Given the description of an element on the screen output the (x, y) to click on. 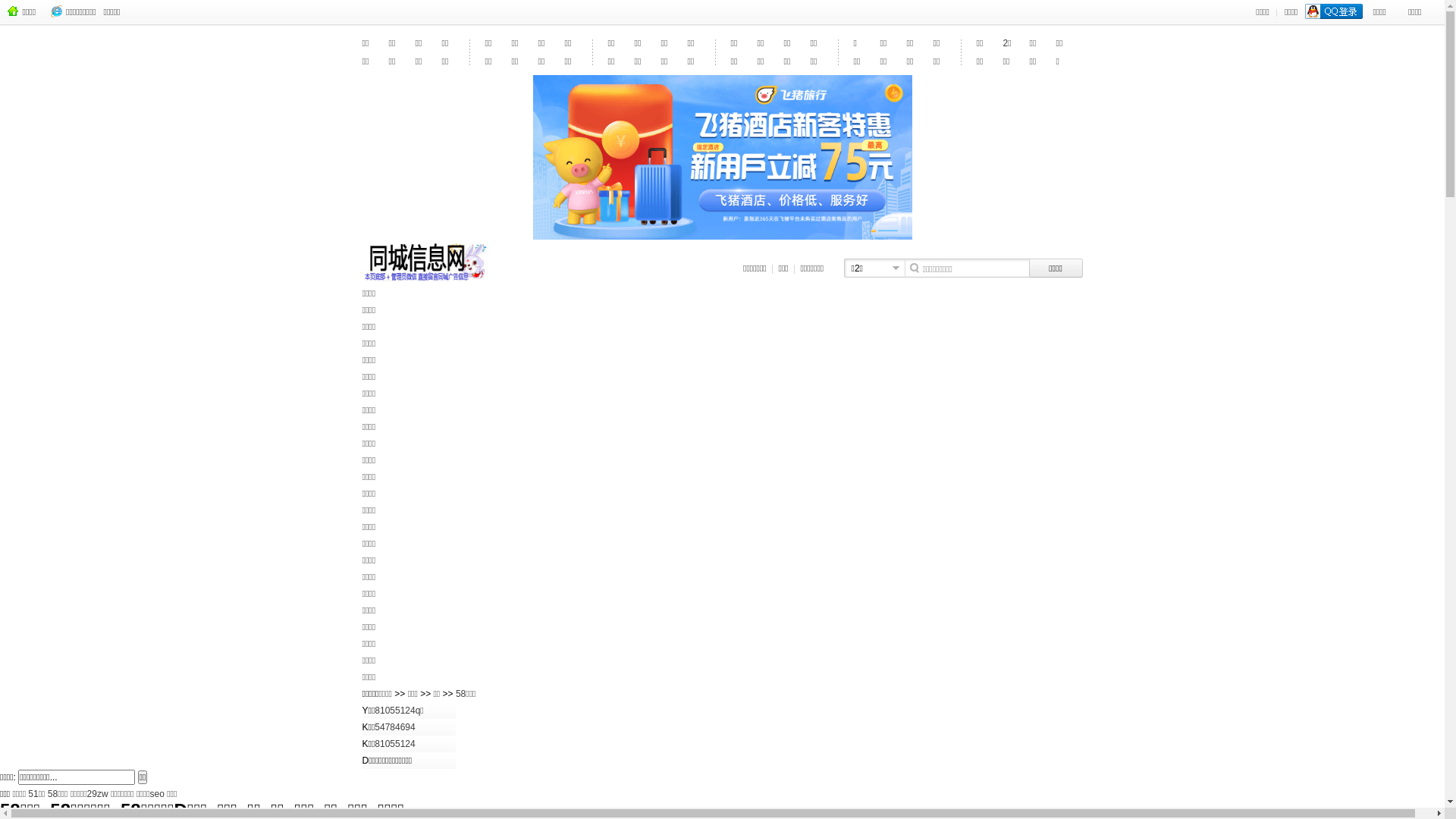
54784694 Element type: text (394, 726)
81055124 Element type: text (394, 743)
